Given the description of an element on the screen output the (x, y) to click on. 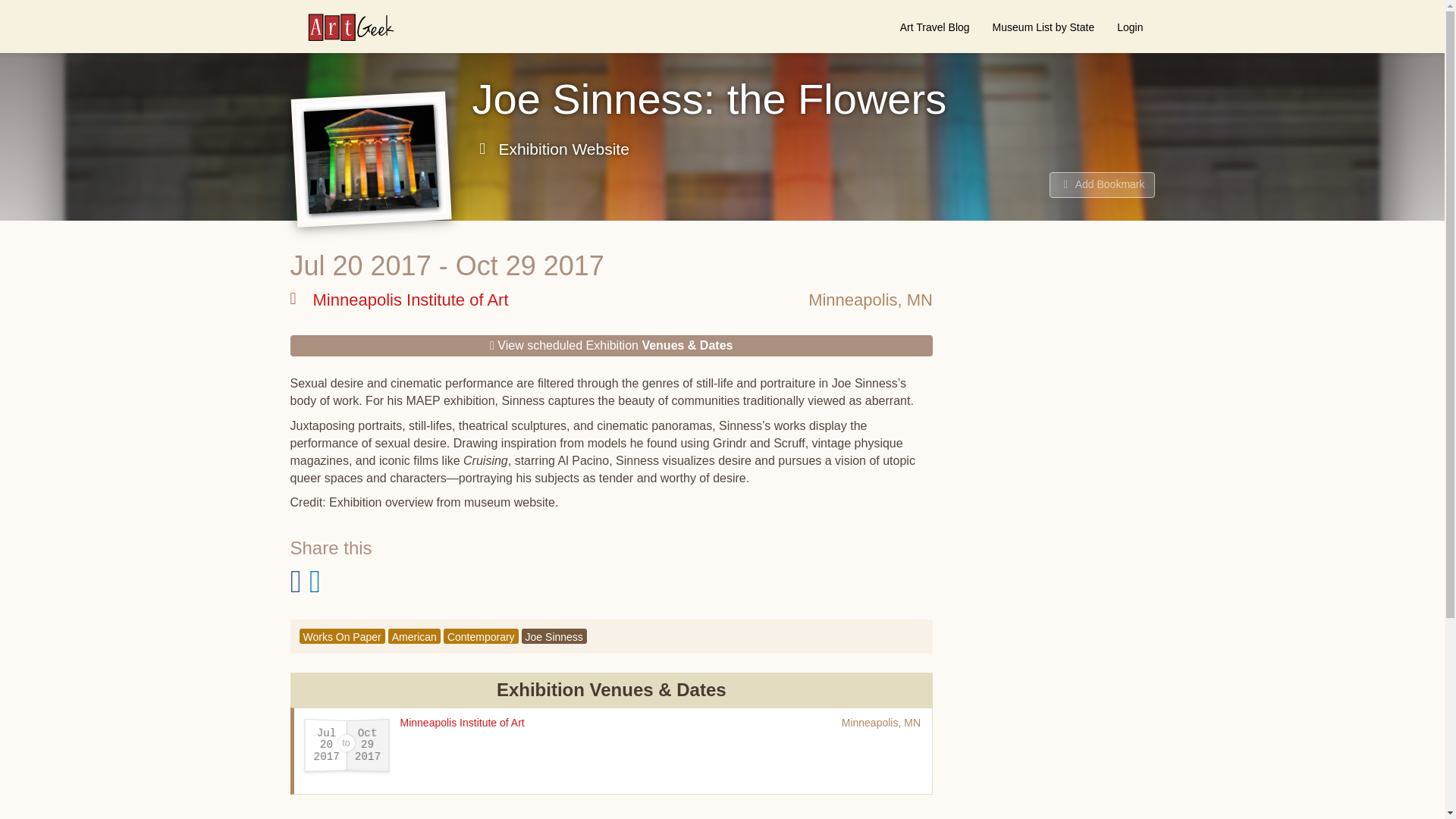
Exhibition Website (549, 149)
Login (1129, 26)
Minneapolis Institute of Art (462, 722)
Museum List by State (1043, 26)
ArtGeek (343, 26)
Minneapolis Institute of Art (398, 300)
Art Travel Blog (934, 26)
Add Bookmark (1101, 184)
